Given the description of an element on the screen output the (x, y) to click on. 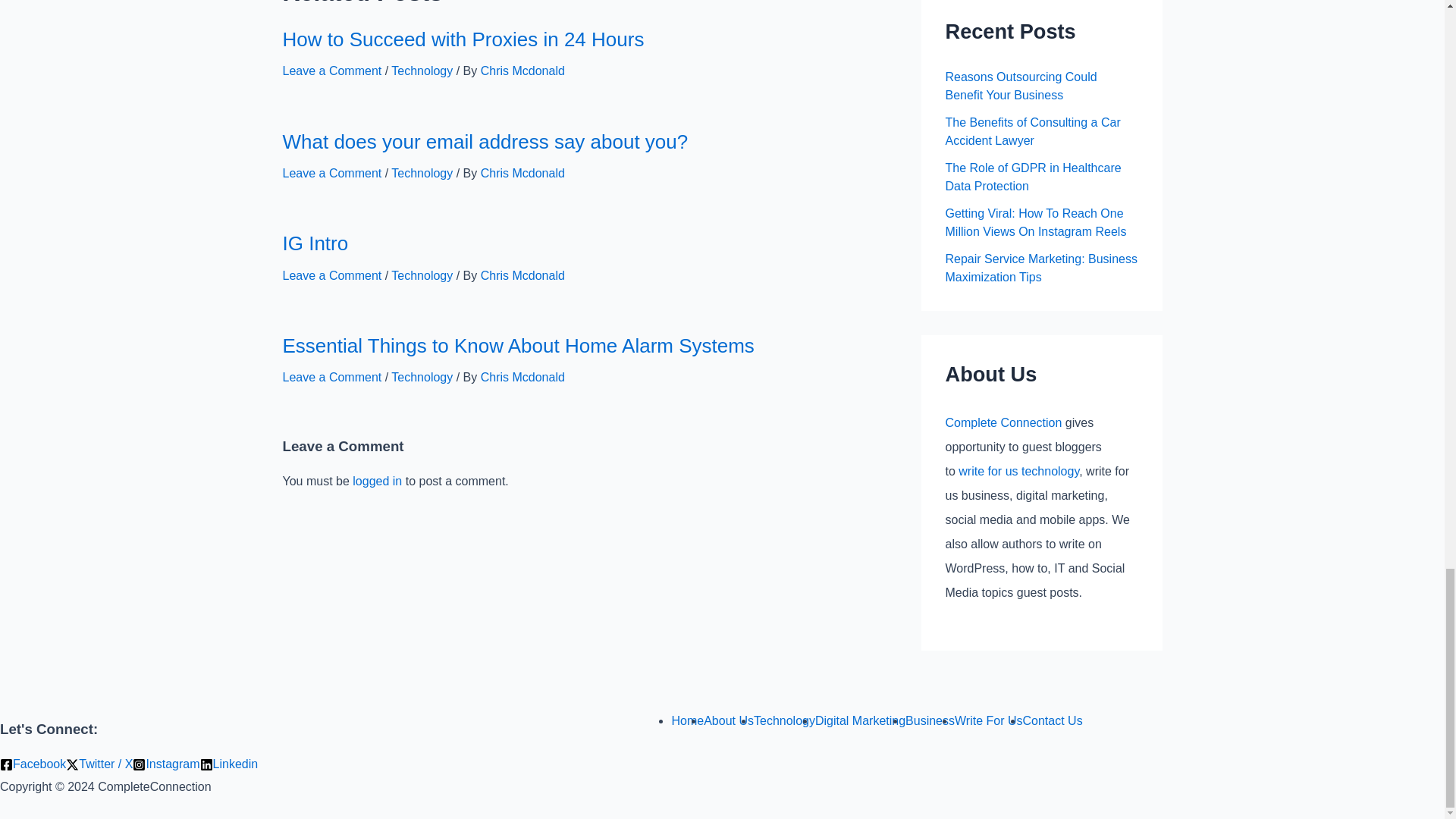
View all posts by Chris Mcdonald (522, 173)
What does your email address say about you? (484, 141)
View all posts by Chris Mcdonald (522, 70)
Leave a Comment (331, 70)
How to Succeed with Proxies in 24 Hours (462, 38)
Chris Mcdonald (522, 70)
Leave a Comment (331, 275)
View all posts by Chris Mcdonald (522, 275)
IG Intro (314, 242)
View all posts by Chris Mcdonald (522, 377)
Technology (421, 275)
Technology (421, 173)
Leave a Comment (331, 173)
Chris Mcdonald (522, 173)
Technology (421, 70)
